Given the description of an element on the screen output the (x, y) to click on. 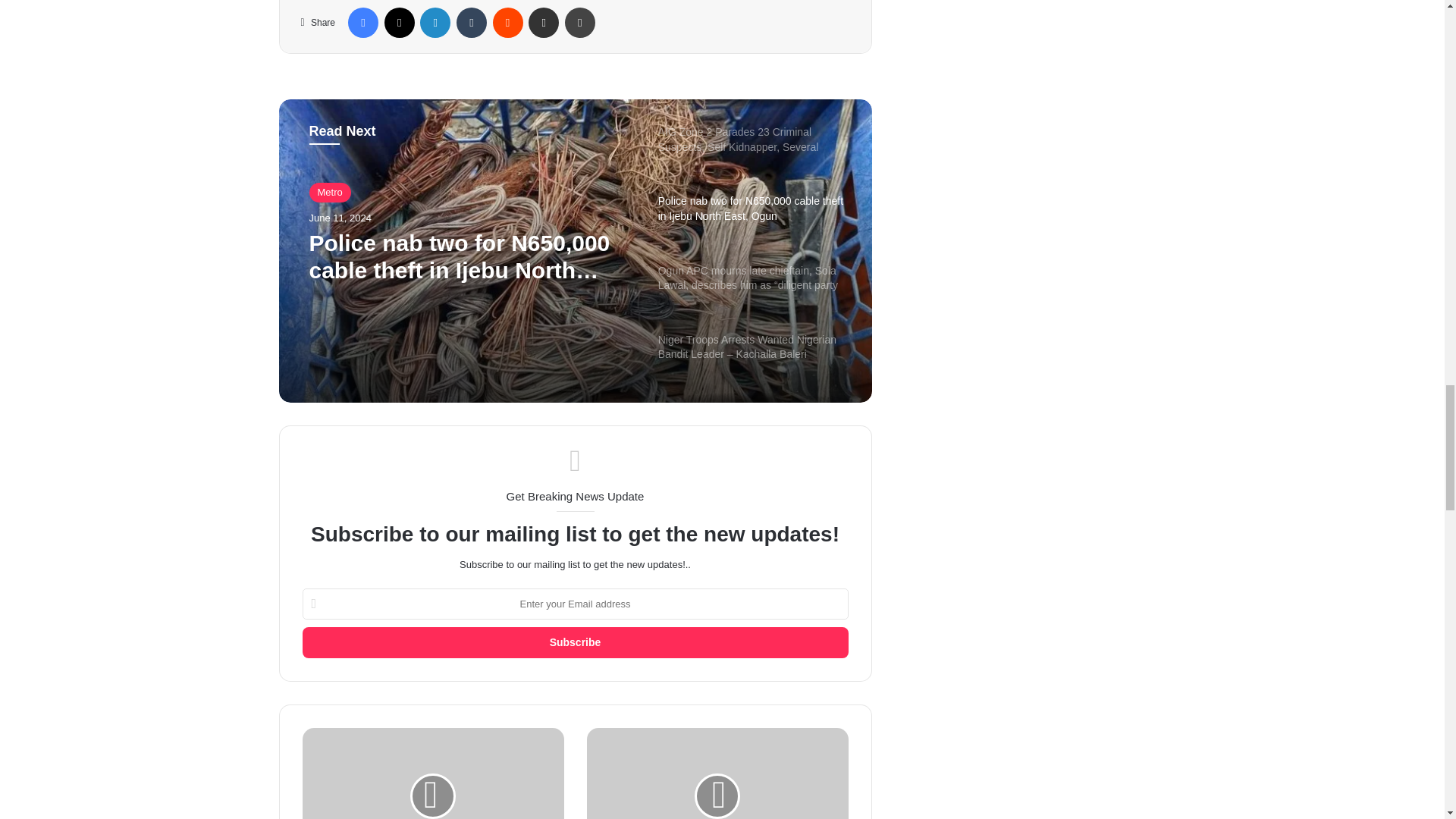
Subscribe (574, 642)
